Given the description of an element on the screen output the (x, y) to click on. 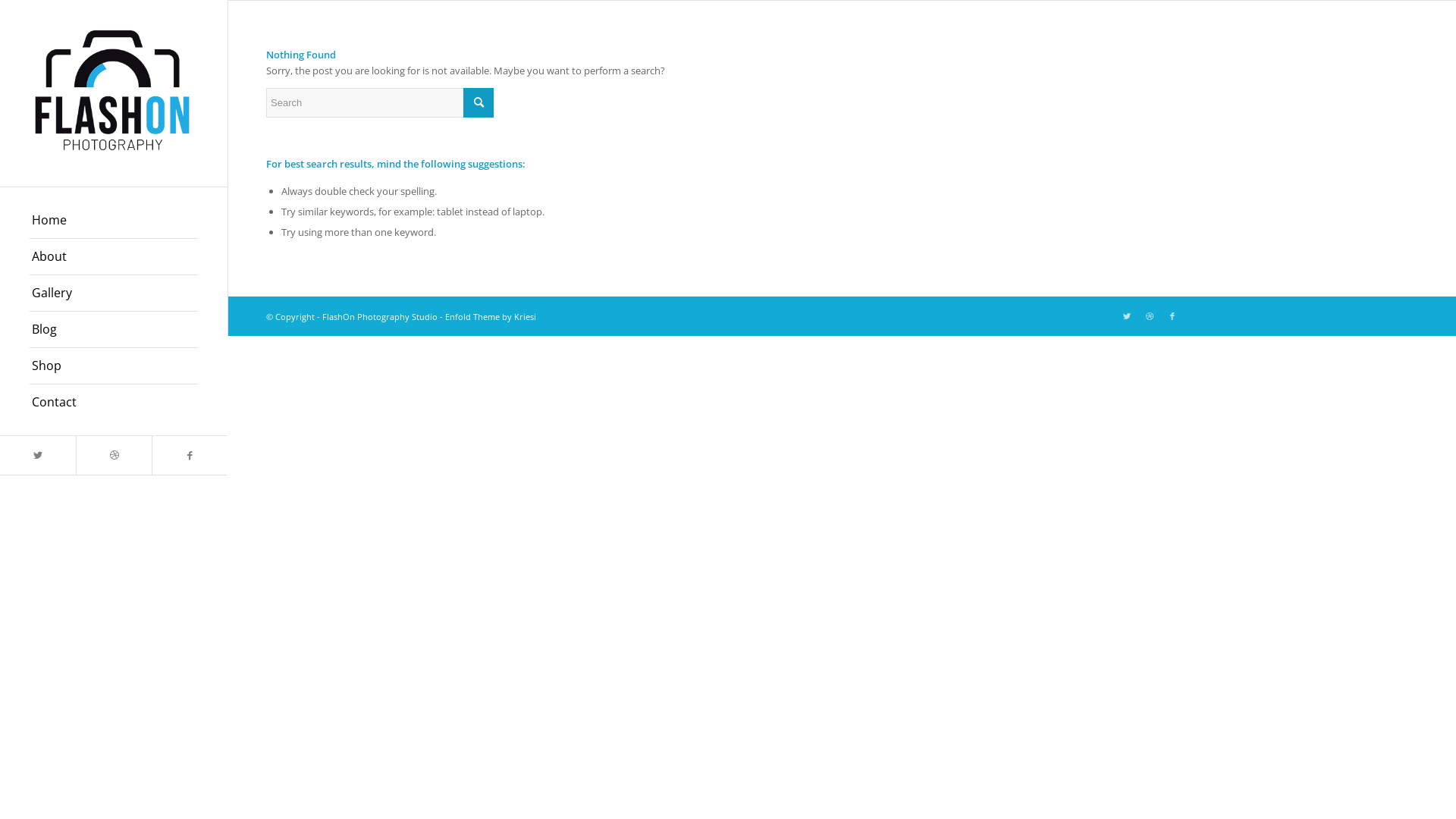
Dribbble Element type: hover (1149, 315)
Facebook Element type: hover (189, 455)
Dribbble Element type: hover (113, 455)
Contact Element type: text (113, 402)
Twitter Element type: hover (1126, 315)
Blog Element type: text (113, 329)
Gallery Element type: text (113, 293)
Shop Element type: text (113, 366)
Twitter Element type: hover (37, 455)
Home Element type: text (113, 220)
Enfold Theme by Kriesi Element type: text (490, 316)
FlashOn Photography Studio Element type: text (379, 316)
Facebook Element type: hover (1172, 315)
About Element type: text (113, 256)
flashon-Logo Element type: hover (113, 93)
